Given the description of an element on the screen output the (x, y) to click on. 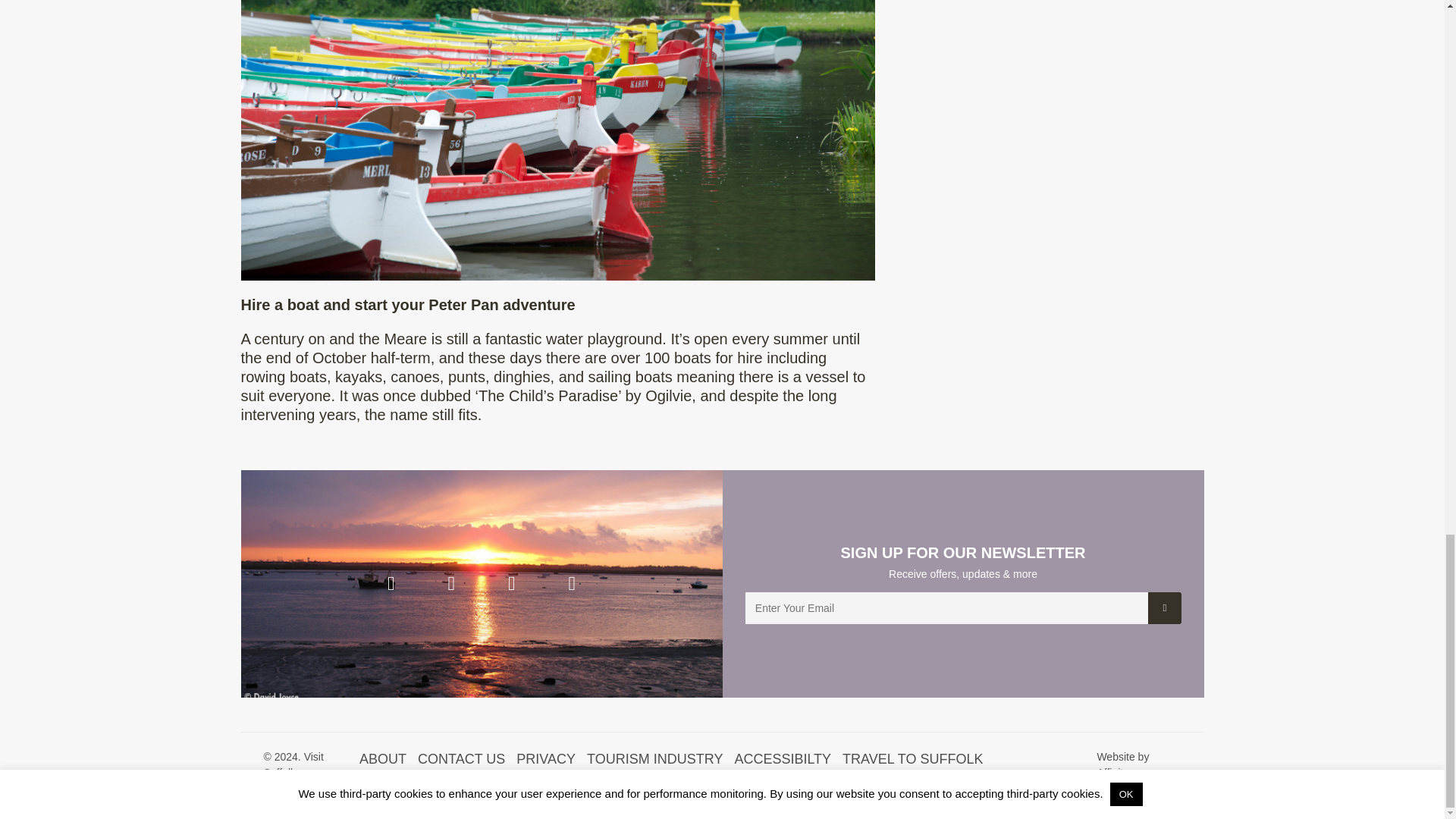
ABOUT (382, 759)
CONTACT US (461, 759)
ACCESSIBILTY (782, 759)
PRIVACY (545, 759)
TOURISM INDUSTRY (654, 759)
TRAVEL TO SUFFOLK (912, 759)
